Given the description of an element on the screen output the (x, y) to click on. 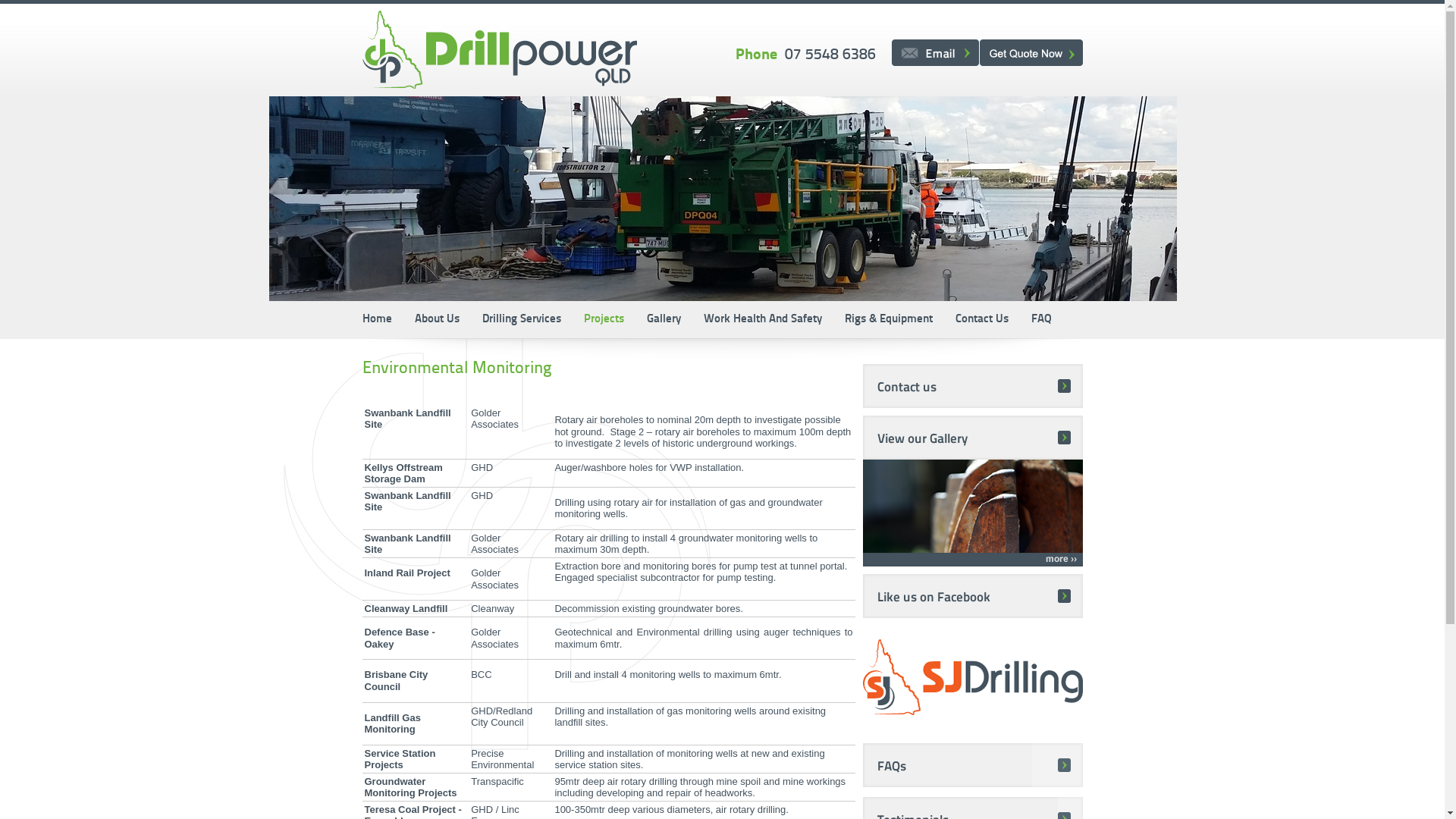
Home Element type: text (382, 319)
FAQ Element type: text (1040, 319)
Gallery Element type: text (663, 319)
Rigs & Equipment Element type: text (887, 319)
Work Health And Safety Element type: text (761, 319)
Contact Us Element type: text (981, 319)
Drilling Services Element type: text (520, 319)
About Us Element type: text (436, 319)
Projects Element type: text (602, 319)
